Given the description of an element on the screen output the (x, y) to click on. 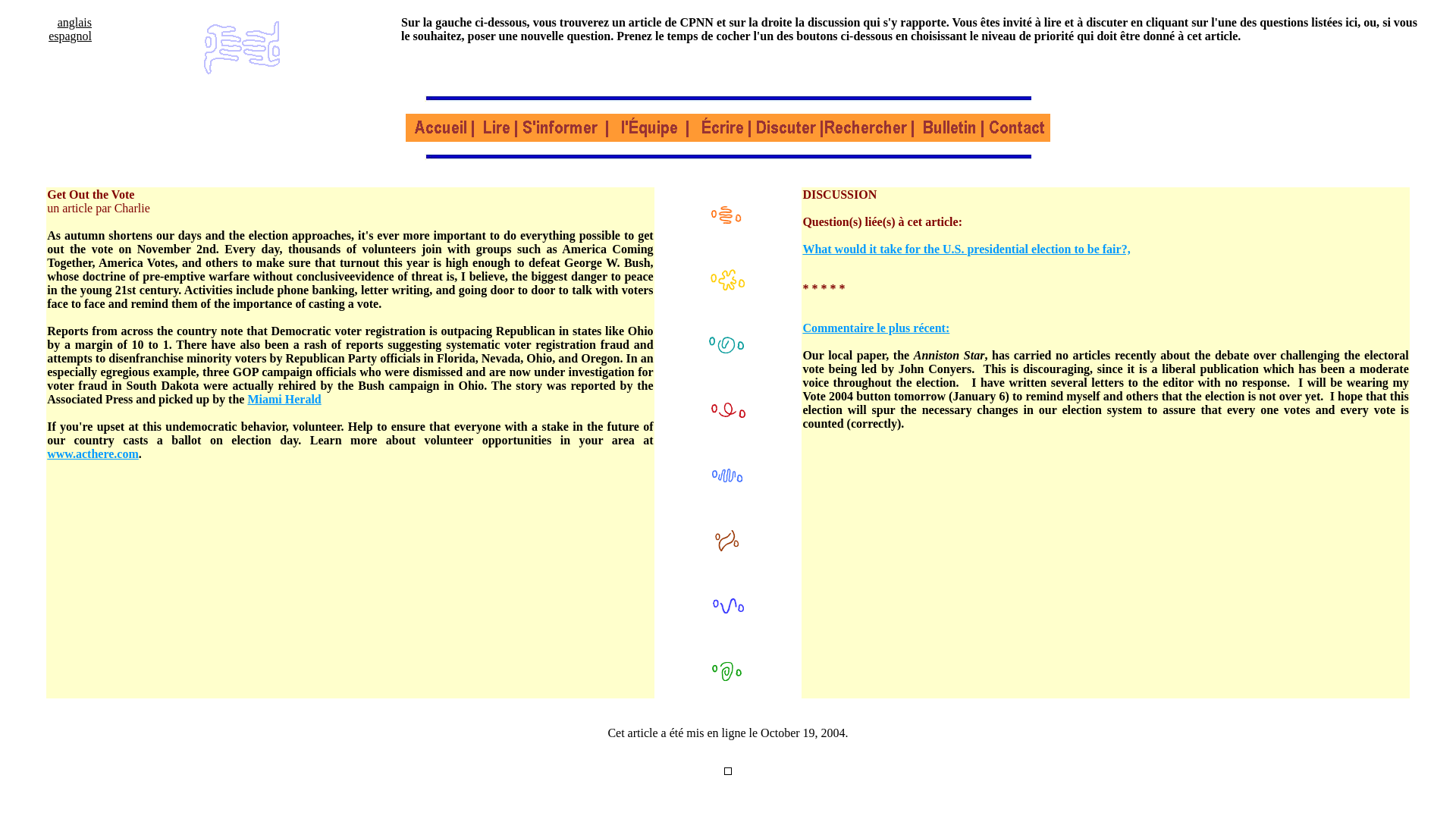
www.acthere.com (92, 453)
anglais (74, 21)
Miami Herald (283, 399)
espagnol (69, 35)
